Given the description of an element on the screen output the (x, y) to click on. 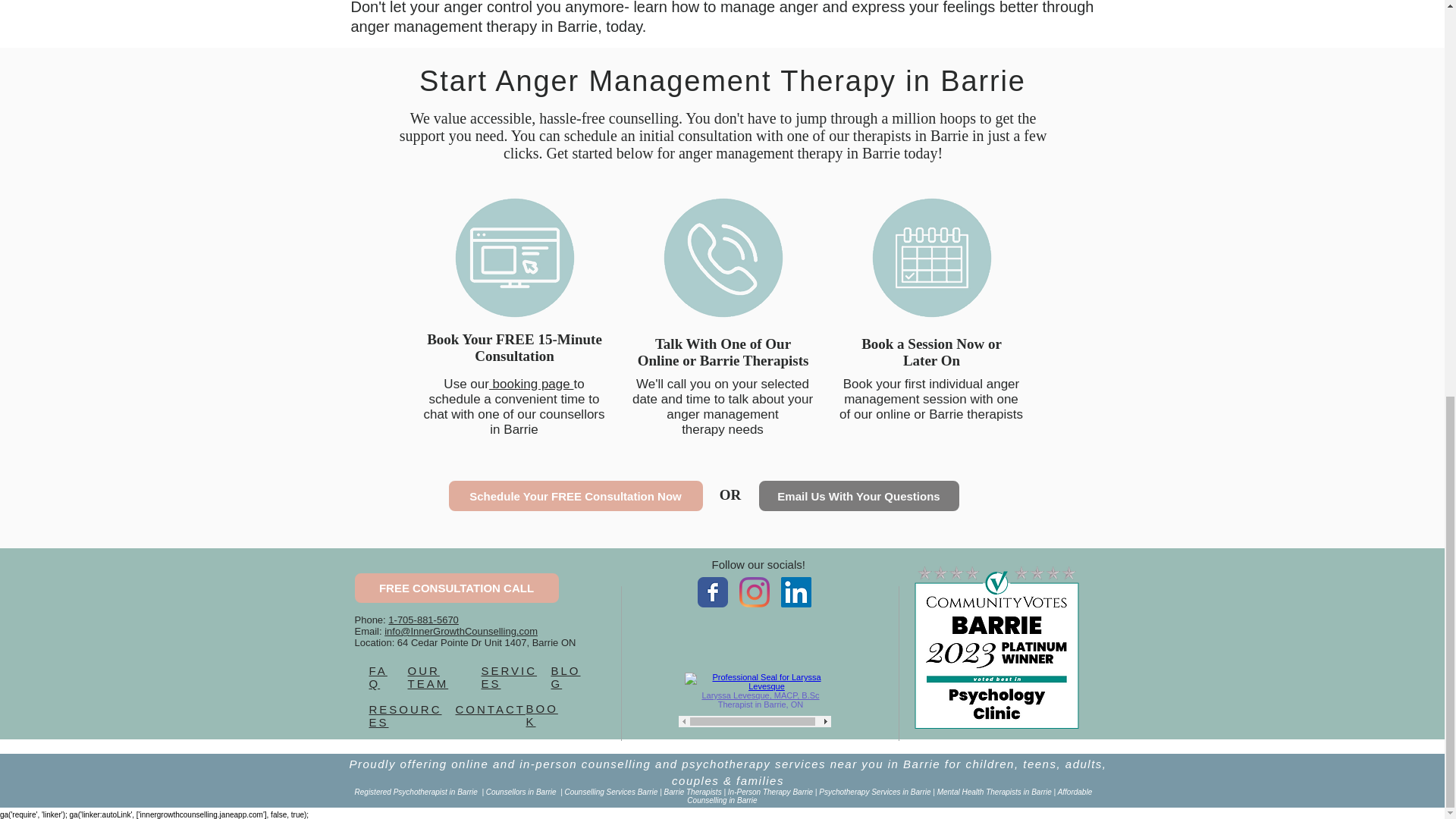
Embedded Content (753, 696)
Embedded Content (753, 640)
booking page (531, 383)
